Given the description of an element on the screen output the (x, y) to click on. 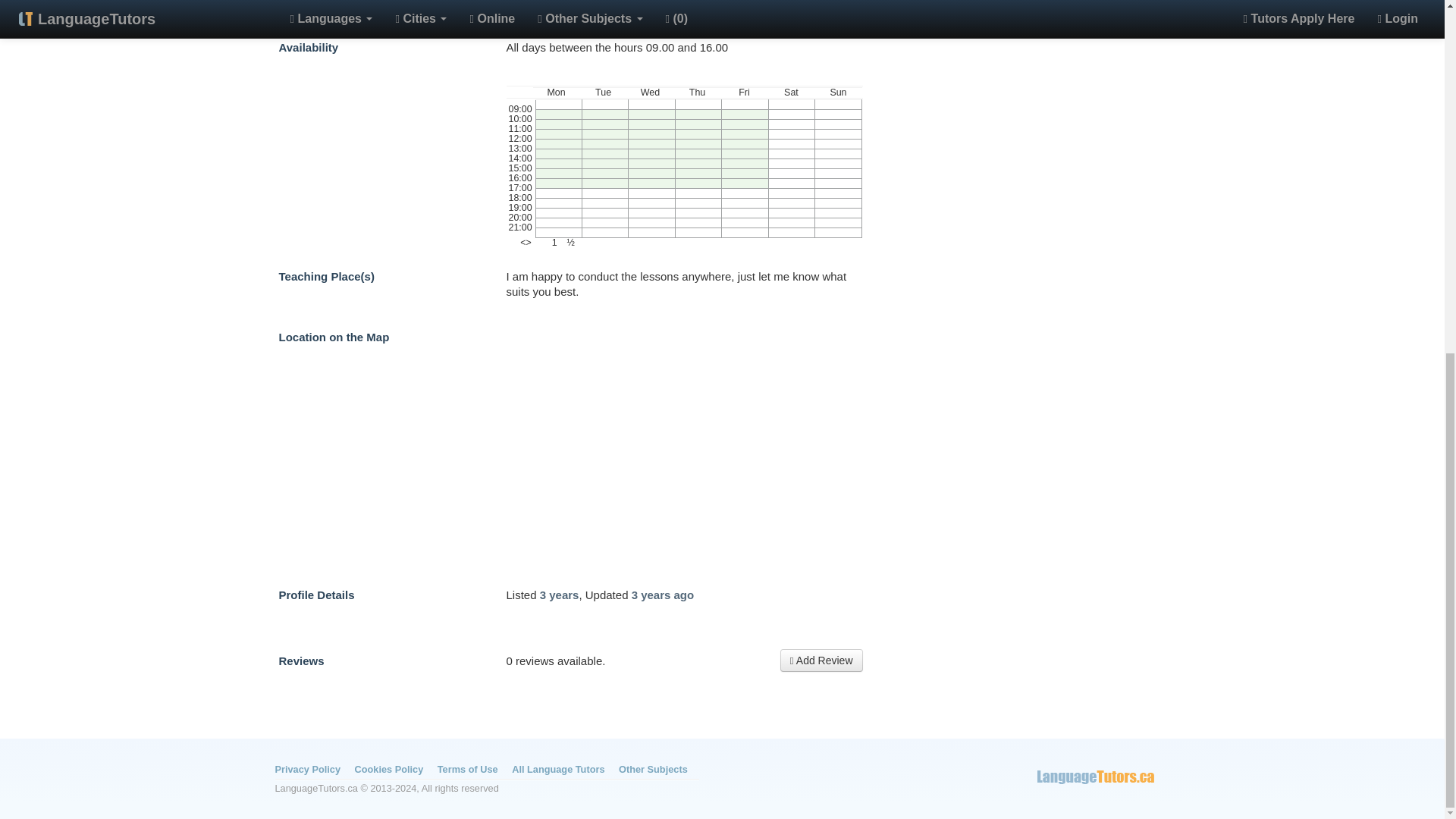
Wed 08:00 - 09:00 (651, 103)
All Language Tutors (558, 768)
Fri 08:00 - 09:00 (745, 103)
Sun 08:00 - 09:00 (838, 103)
Mon 09:00 - 10:00 (557, 114)
Fri 09:00 - 10:00 (745, 114)
Tue 09:00 - 10:00 (605, 114)
Sat 08:00 - 09:00 (790, 103)
Green denotes available time slots (684, 165)
Thu 09:00 - 10:00 (697, 114)
